Given the description of an element on the screen output the (x, y) to click on. 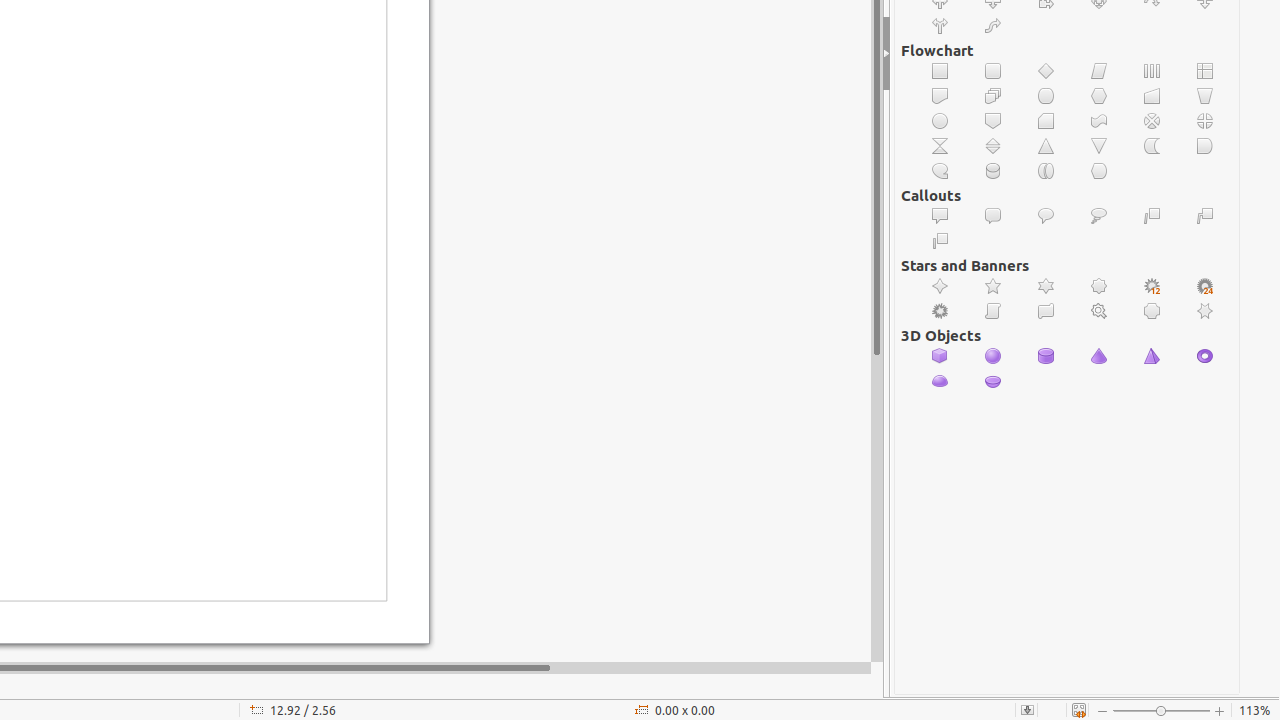
Flowchart: Card Element type: list-item (1046, 121)
Flowchart: Alternate Process Element type: list-item (993, 71)
Torus Element type: list-item (1205, 356)
Shell Element type: list-item (940, 381)
Flowchart: Sequential Access Element type: list-item (940, 171)
